Given the description of an element on the screen output the (x, y) to click on. 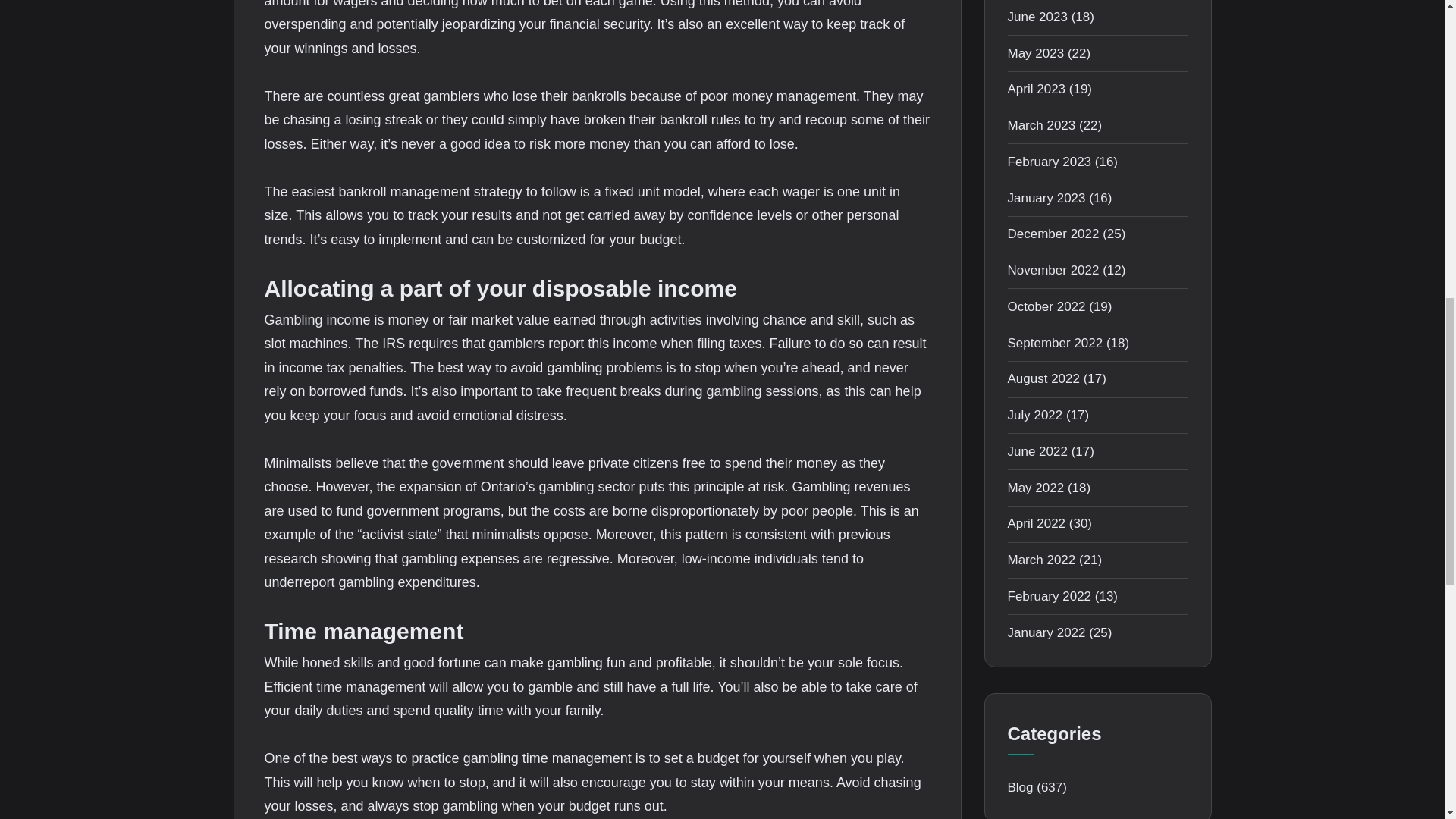
September 2022 (1054, 342)
April 2023 (1036, 88)
May 2023 (1035, 52)
November 2022 (1053, 269)
January 2023 (1045, 197)
March 2023 (1041, 124)
June 2023 (1037, 16)
December 2022 (1053, 233)
October 2022 (1045, 306)
February 2023 (1048, 161)
